Given the description of an element on the screen output the (x, y) to click on. 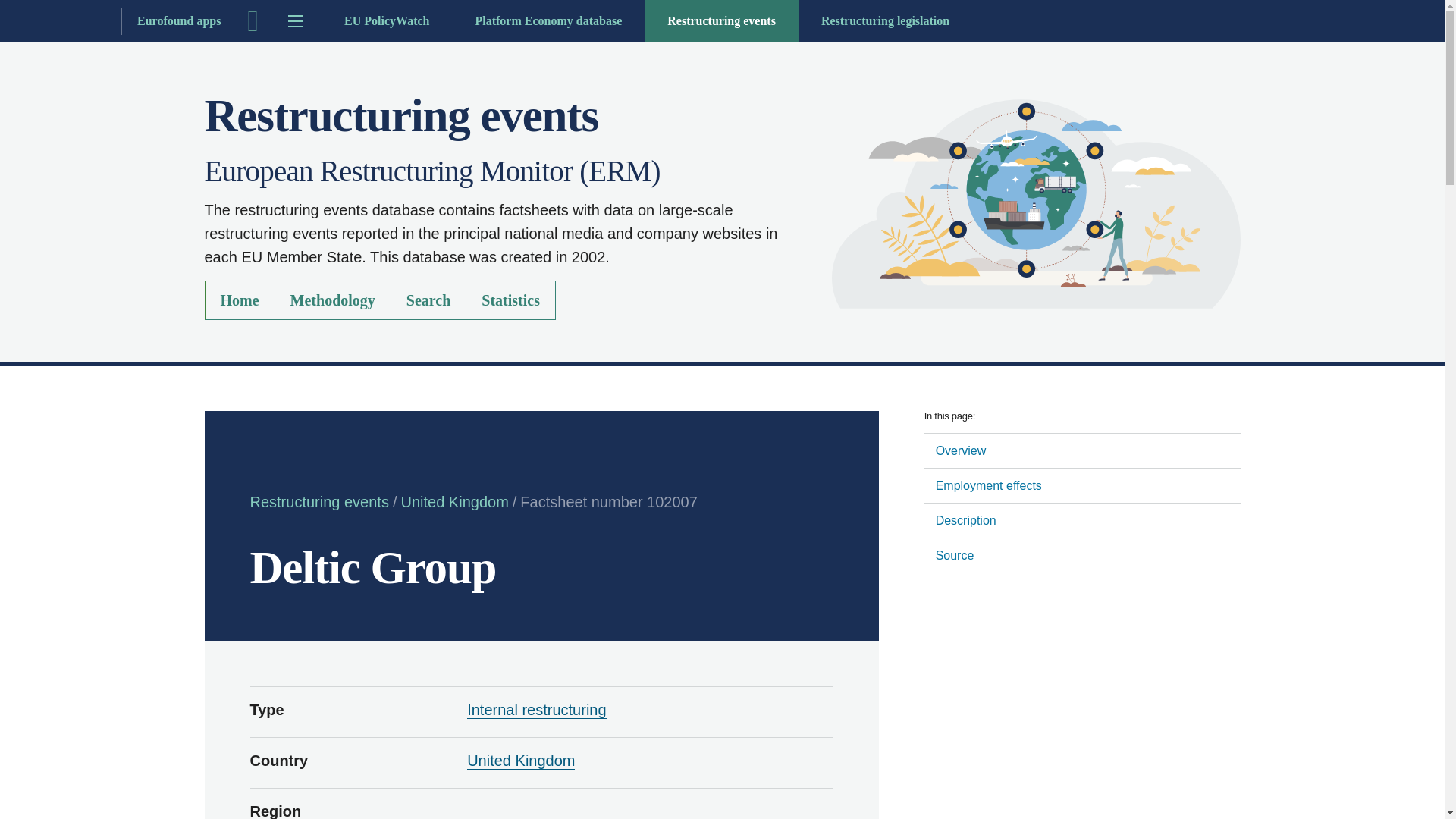
Home (240, 300)
Restructuring legislation (884, 21)
Methodology (333, 300)
United Kingdom (454, 501)
Eurofound apps (117, 21)
Overview (1082, 450)
United Kingdom (521, 760)
Home (1035, 202)
Statistics (510, 300)
Restructuring events (319, 501)
